Given the description of an element on the screen output the (x, y) to click on. 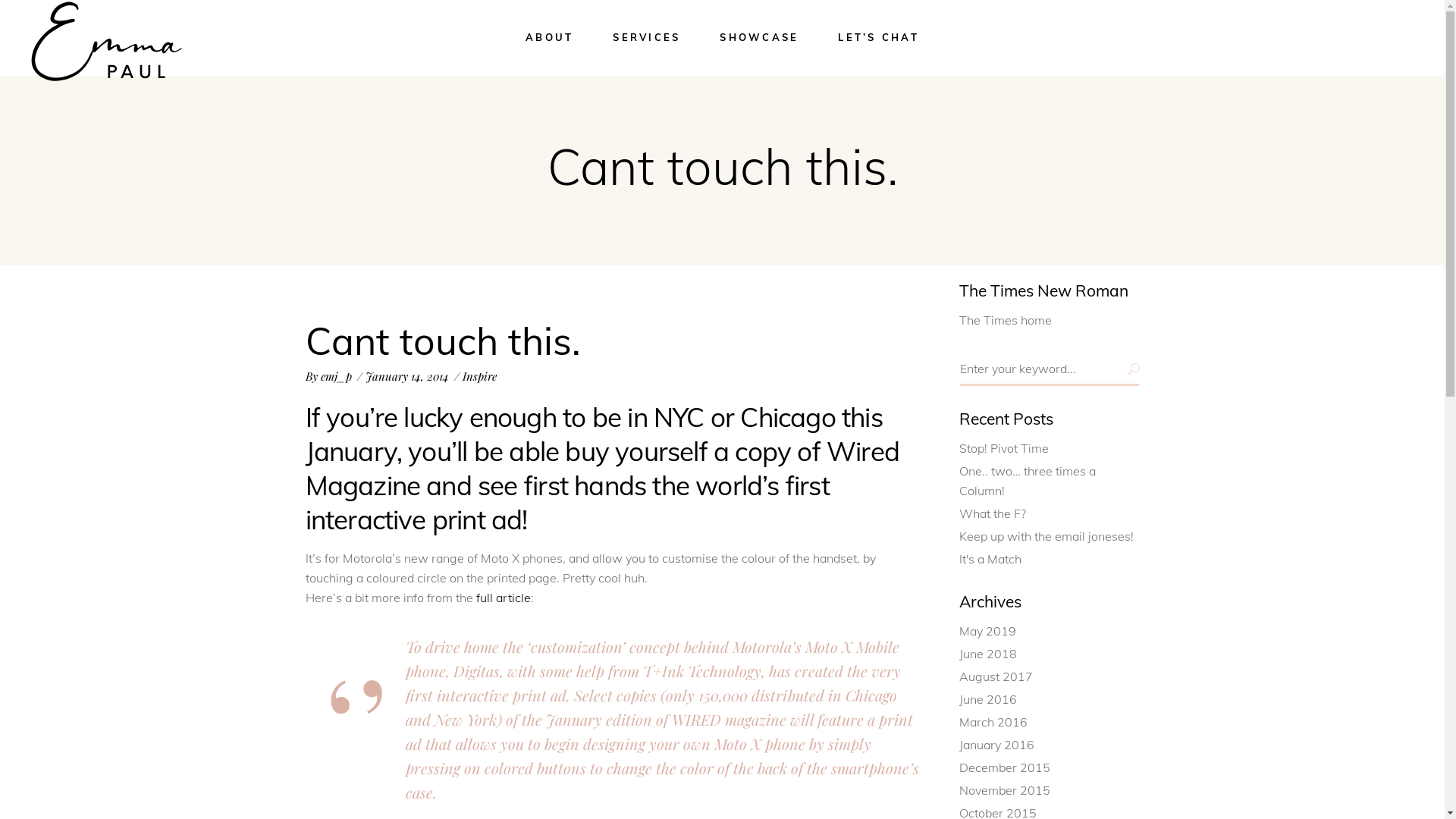
The Times home Element type: text (1005, 319)
emj_p Element type: text (335, 375)
January 2016 Element type: text (996, 744)
SHOWCASE Element type: text (758, 37)
Search for: Element type: hover (1049, 368)
August 2017 Element type: text (995, 676)
March 2016 Element type: text (993, 721)
January 14, 2014 Element type: text (406, 375)
full article Element type: text (503, 597)
June 2018 Element type: text (987, 653)
December 2015 Element type: text (1004, 767)
ABOUT Element type: text (549, 37)
What the F? Element type: text (992, 512)
November 2015 Element type: text (1004, 789)
It's a Match Element type: text (990, 558)
June 2016 Element type: text (987, 698)
Stop! Pivot Time Element type: text (1003, 447)
May 2019 Element type: text (987, 630)
SERVICES Element type: text (646, 37)
Inspire Element type: text (479, 375)
Keep up with the email joneses! Element type: text (1046, 535)
